Given the description of an element on the screen output the (x, y) to click on. 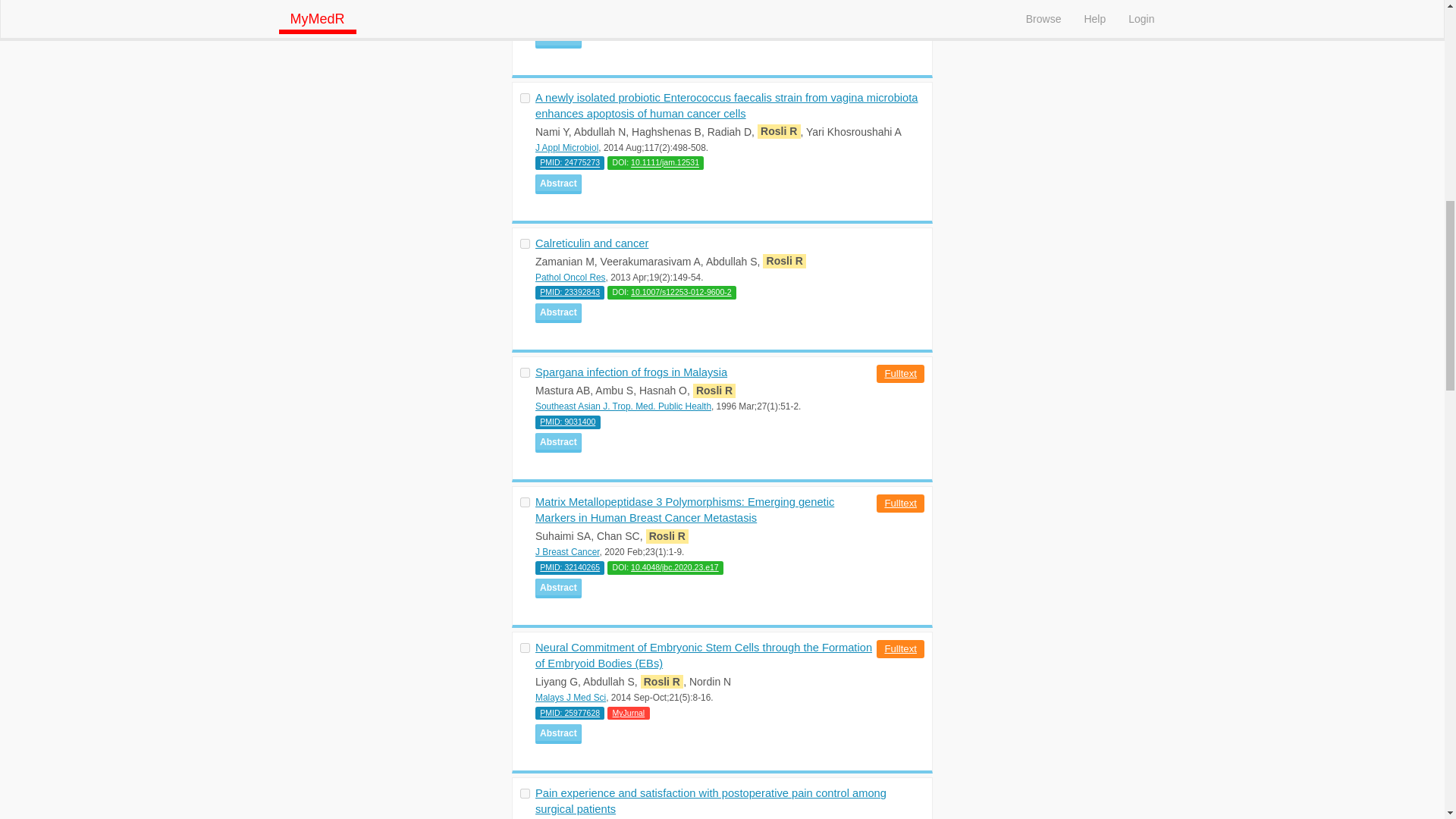
on (524, 501)
on (524, 243)
on (524, 793)
on (524, 647)
on (524, 372)
on (524, 98)
